Given the description of an element on the screen output the (x, y) to click on. 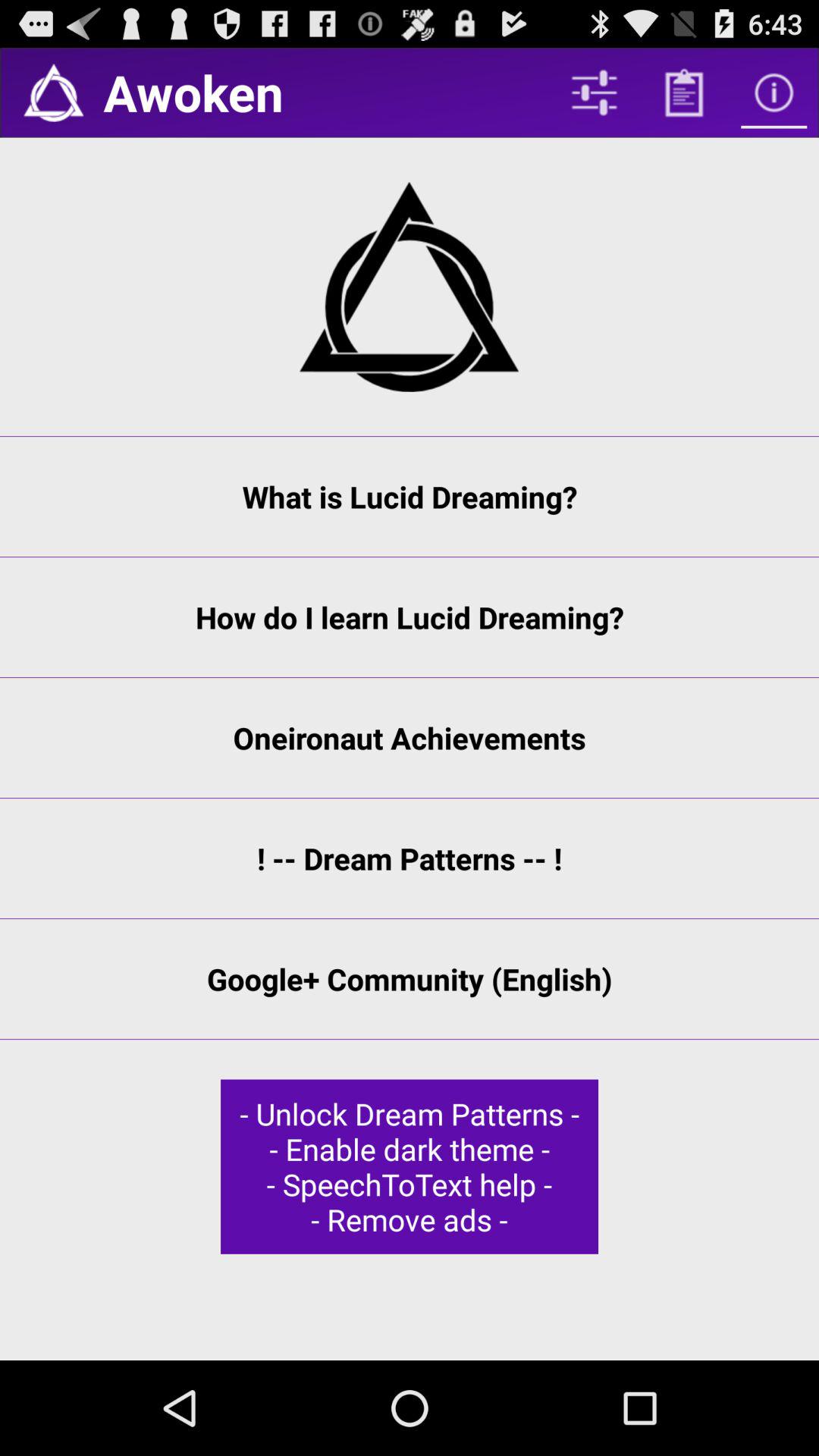
turn off oneironaut achievements item (409, 737)
